Given the description of an element on the screen output the (x, y) to click on. 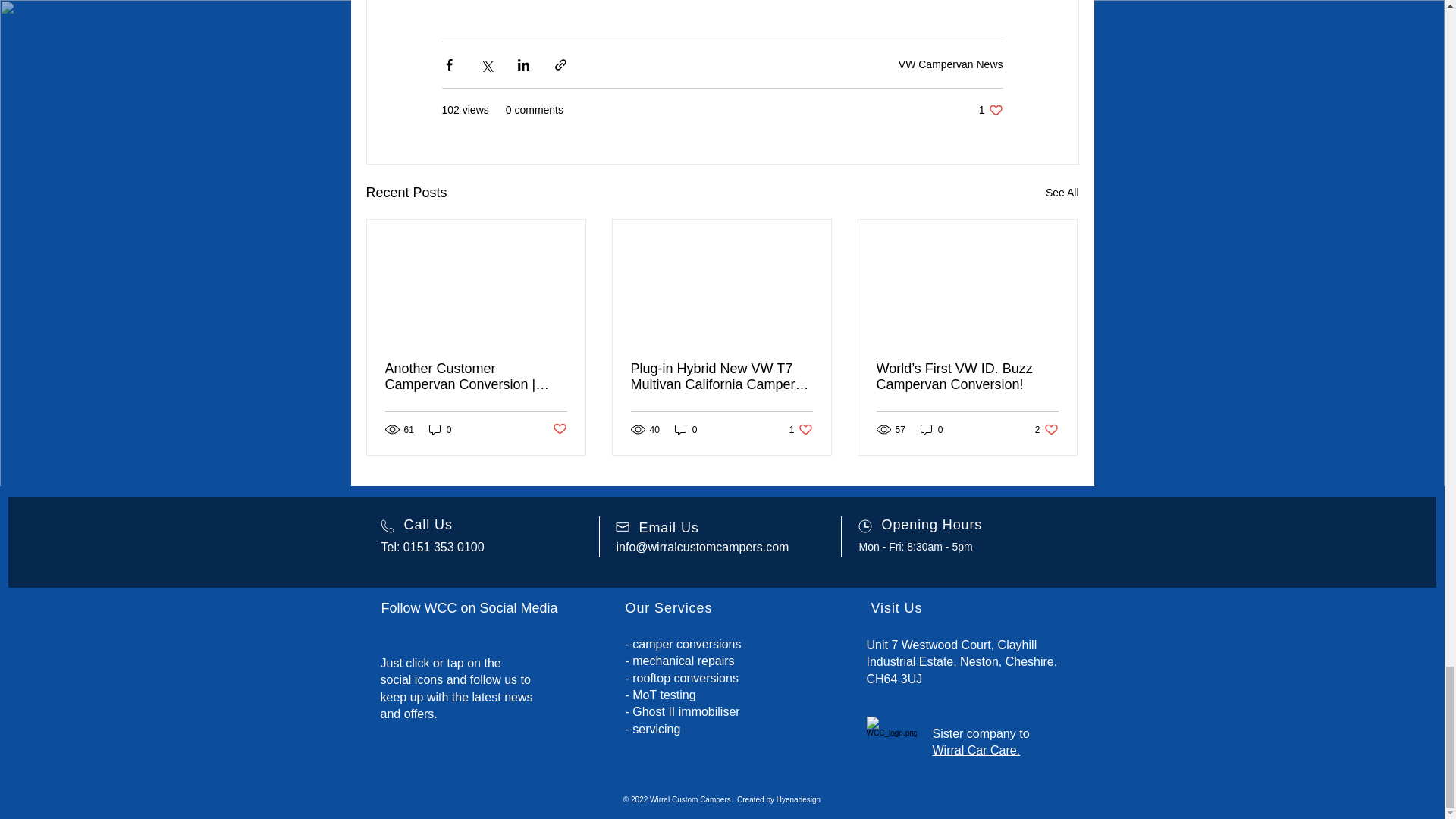
See All (1061, 192)
0 (440, 429)
Post not marked as liked (558, 429)
0 (800, 429)
VW Campervan News (685, 429)
